Given the description of an element on the screen output the (x, y) to click on. 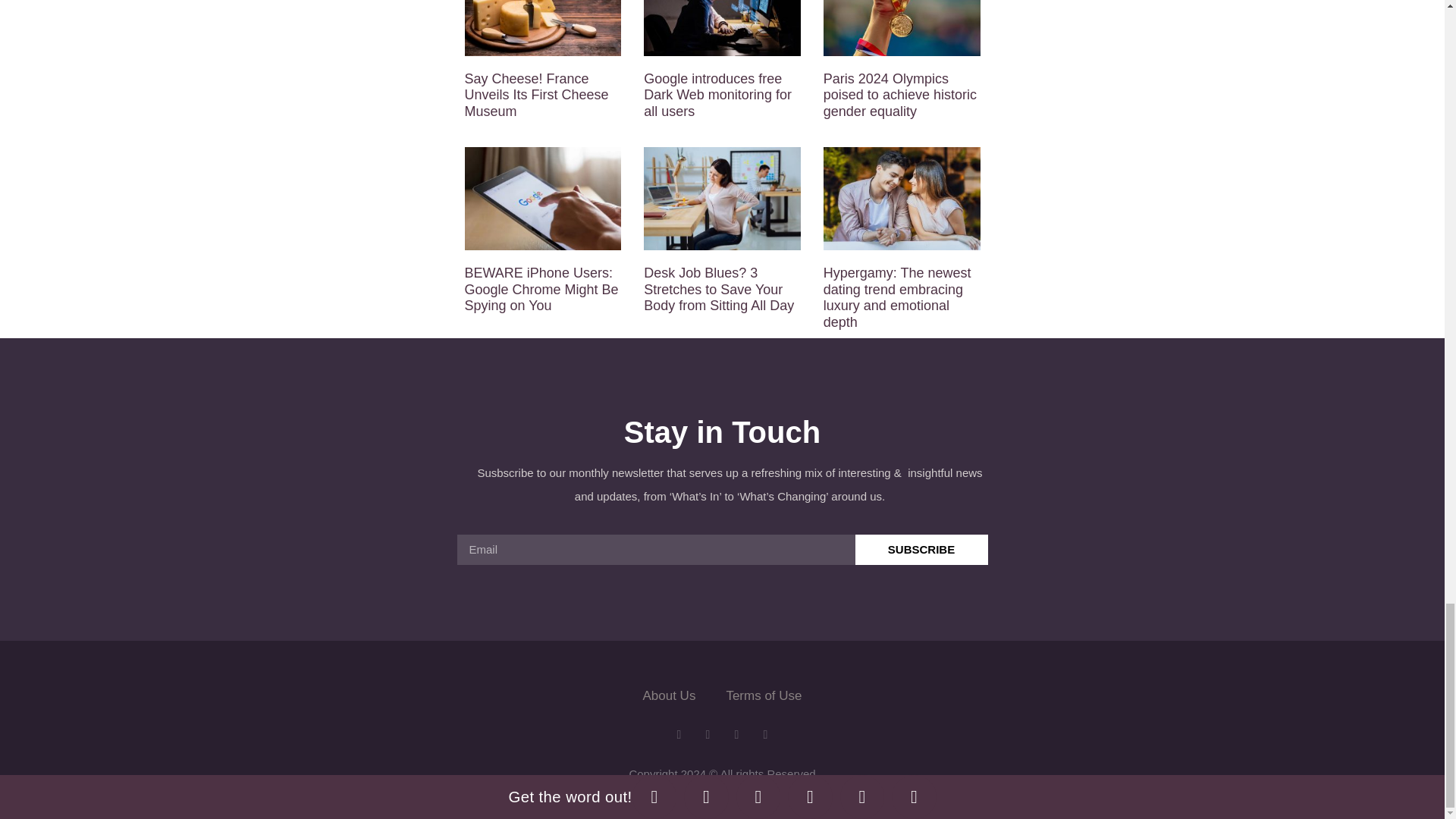
BEWARE iPhone Users: Google Chrome Might Be Spying on You (540, 288)
Google introduces free Dark Web monitoring for all users (717, 94)
Say Cheese! France Unveils Its First Cheese Museum (536, 94)
